Given the description of an element on the screen output the (x, y) to click on. 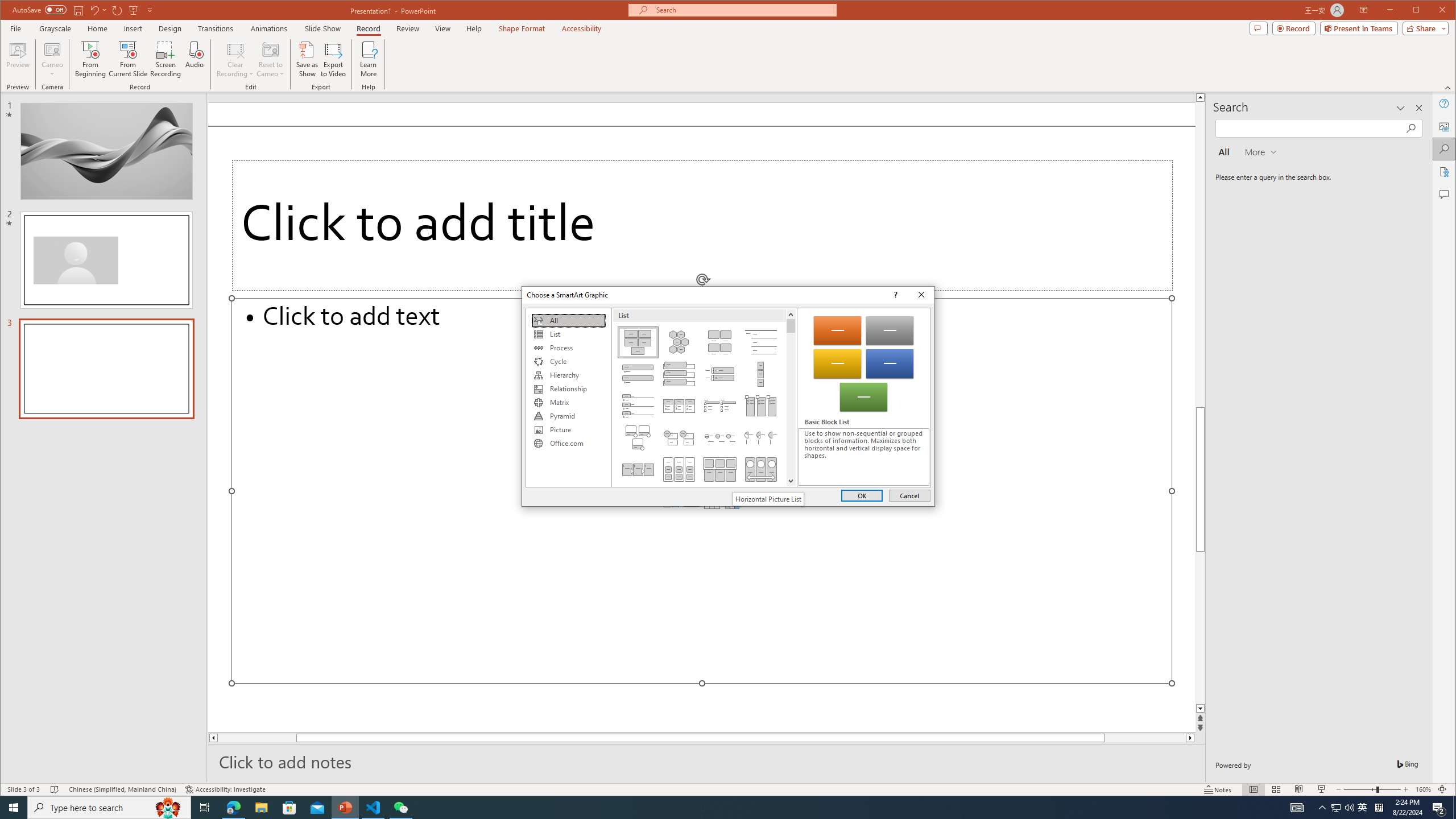
Vertical Box List (678, 373)
Increasing Circle Process (719, 437)
Grouped List (678, 469)
Office.com (568, 443)
Bending Picture Accent List (637, 437)
